Given the description of an element on the screen output the (x, y) to click on. 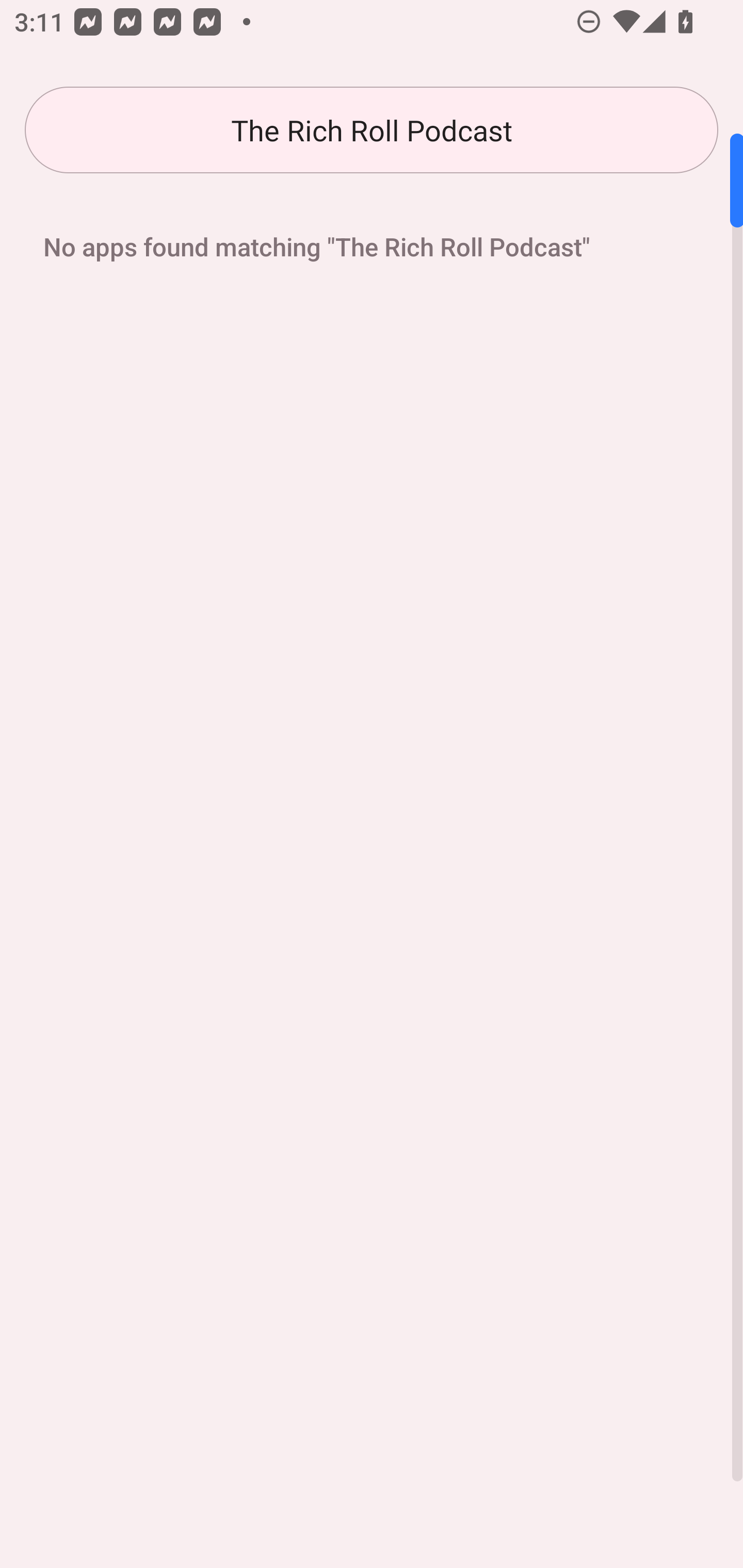
The Rich Roll Podcast (371, 130)
